Given the description of an element on the screen output the (x, y) to click on. 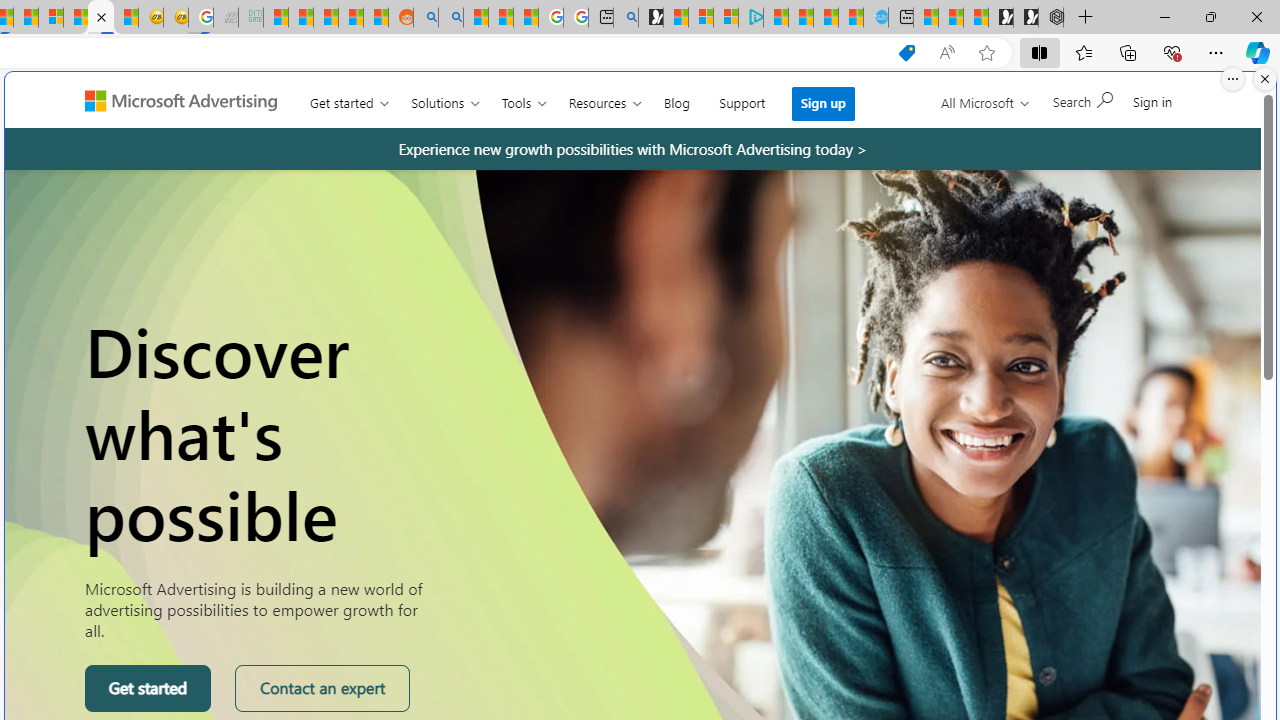
Support (742, 98)
Blog (676, 98)
Get started (148, 688)
Sign up (823, 103)
